Given the description of an element on the screen output the (x, y) to click on. 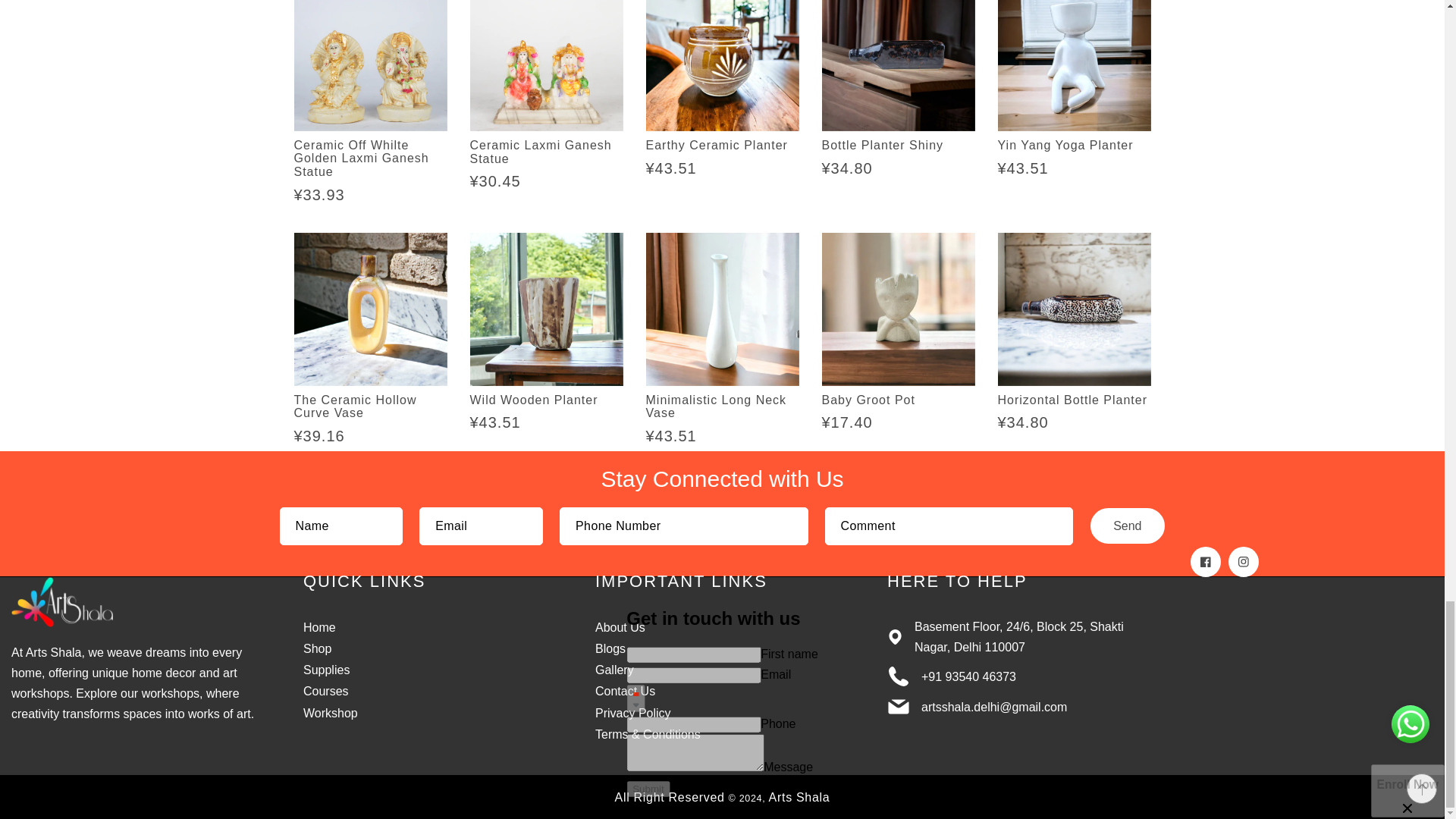
Terms of Service (647, 734)
All Courses (325, 690)
All products (316, 648)
Gallery (614, 669)
workshop (330, 712)
About Us (620, 626)
resin art (610, 648)
All-Supplies (325, 669)
Privacy Policy (633, 712)
Contact Us (625, 690)
